Given the description of an element on the screen output the (x, y) to click on. 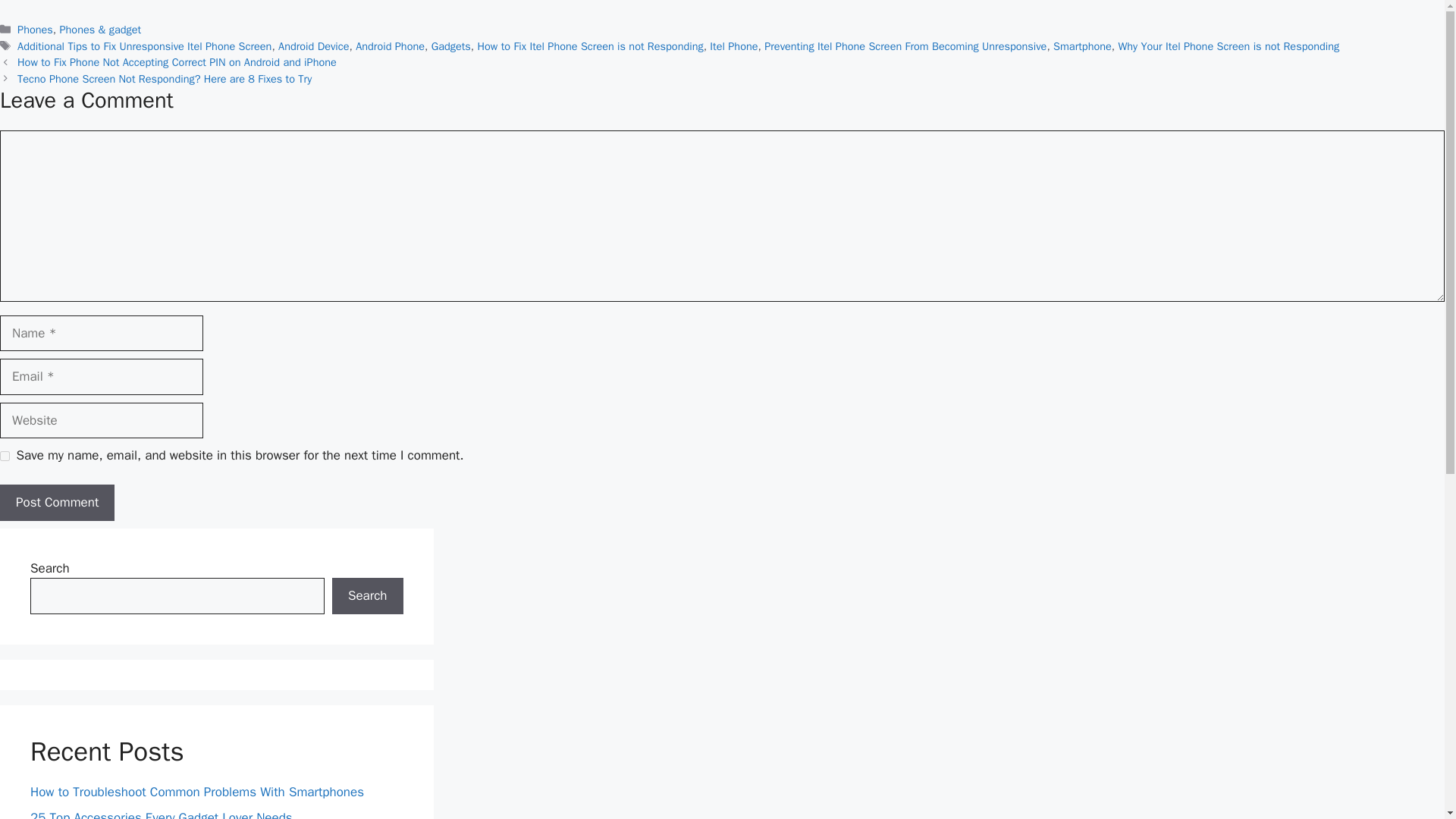
Android Phone (390, 46)
Smartphone (1082, 46)
Gadgets (450, 46)
Search (367, 596)
Post Comment (57, 502)
Additional Tips to Fix Unresponsive Itel Phone Screen (143, 46)
How to Troubleshoot Common Problems With Smartphones  (199, 791)
Phones (34, 29)
25 Top Accessories Every Gadget Lover Needs (161, 814)
Tecno Phone Screen Not Responding? Here are 8 Fixes to Try (164, 78)
